Given the description of an element on the screen output the (x, y) to click on. 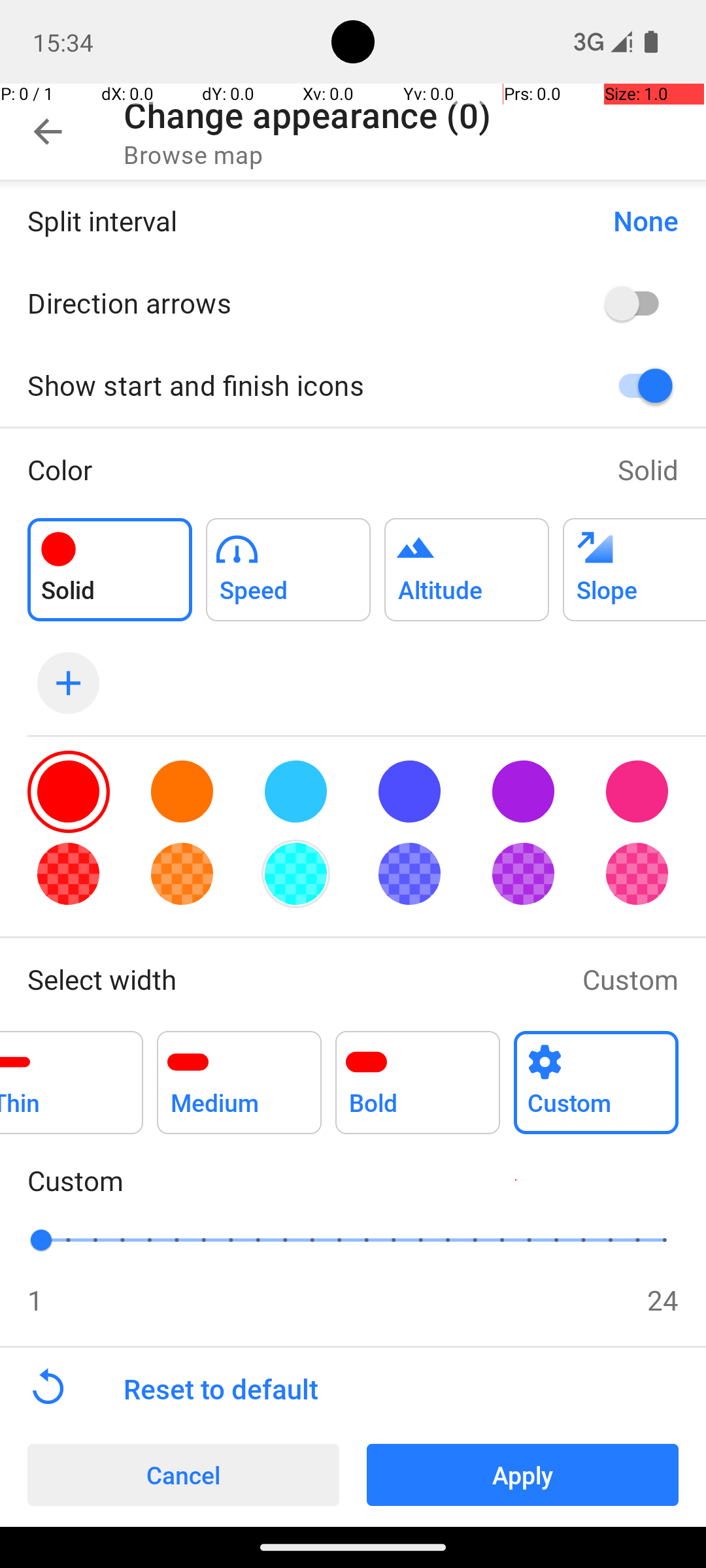
Change appearance (0) Element type: android.widget.TextView (307, 114)
Browse map Element type: android.widget.TextView (193, 154)
Solid Element type: android.widget.TextView (647, 469)
Select width Element type: android.widget.TextView (290, 978)
Custom Element type: android.widget.TextView (630, 978)
Split interval Element type: android.widget.TextView (306, 220)
Direction arrows Element type: android.widget.TextView (297, 302)
Show start and finish icons Element type: android.widget.TextView (297, 384)
Value, 1 Element type: android.widget.SeekBar (54, 1239)
Reset to default Element type: android.widget.TextView (414, 1388)
Add to group Element type: android.widget.ImageView (109, 569)
Speed Element type: android.widget.TextView (287, 562)
Altitude Element type: android.widget.TextView (466, 562)
Slope Element type: android.widget.TextView (634, 562)
Thin Element type: android.widget.TextView (71, 1074)
Medium Element type: android.widget.TextView (238, 1074)
